Given the description of an element on the screen output the (x, y) to click on. 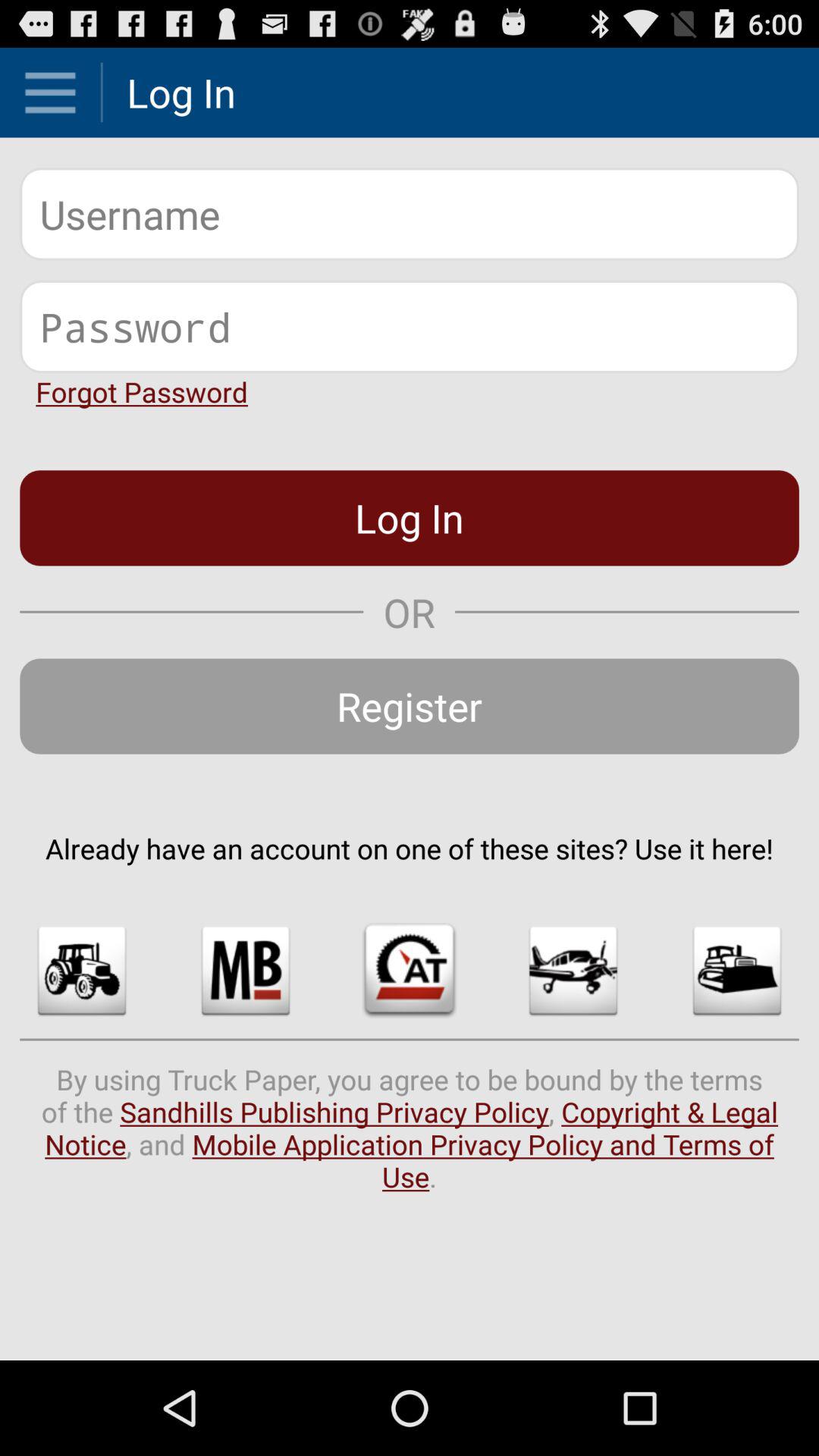
enter your username or your account (409, 213)
